Given the description of an element on the screen output the (x, y) to click on. 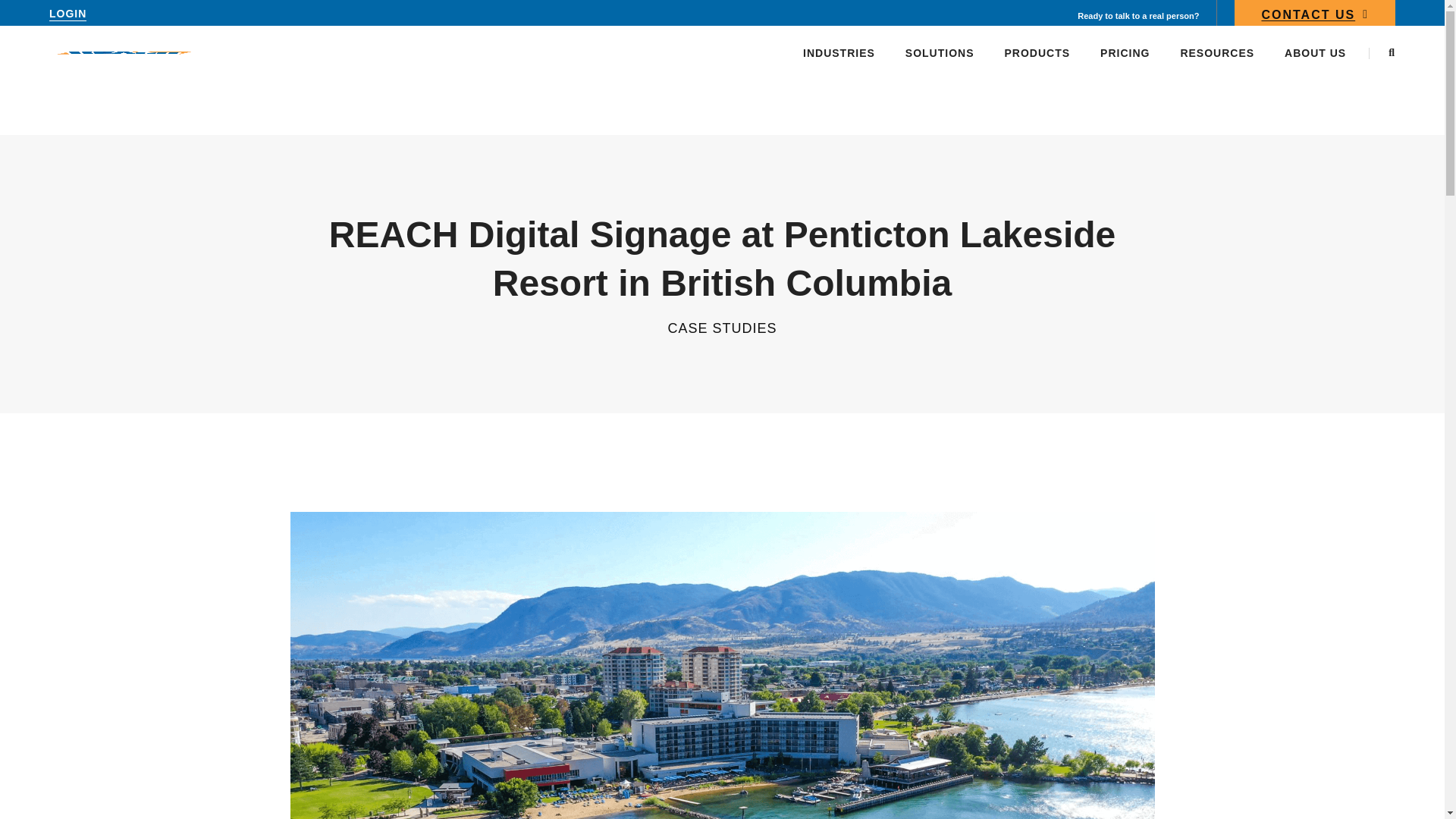
LOGIN (67, 13)
INDUSTRIES (839, 52)
PRICING (1125, 52)
CONTACT US (1314, 16)
PRODUCTS (1037, 52)
SOLUTIONS (939, 52)
RESOURCES (1216, 52)
REACH Media Network (124, 51)
